Given the description of an element on the screen output the (x, y) to click on. 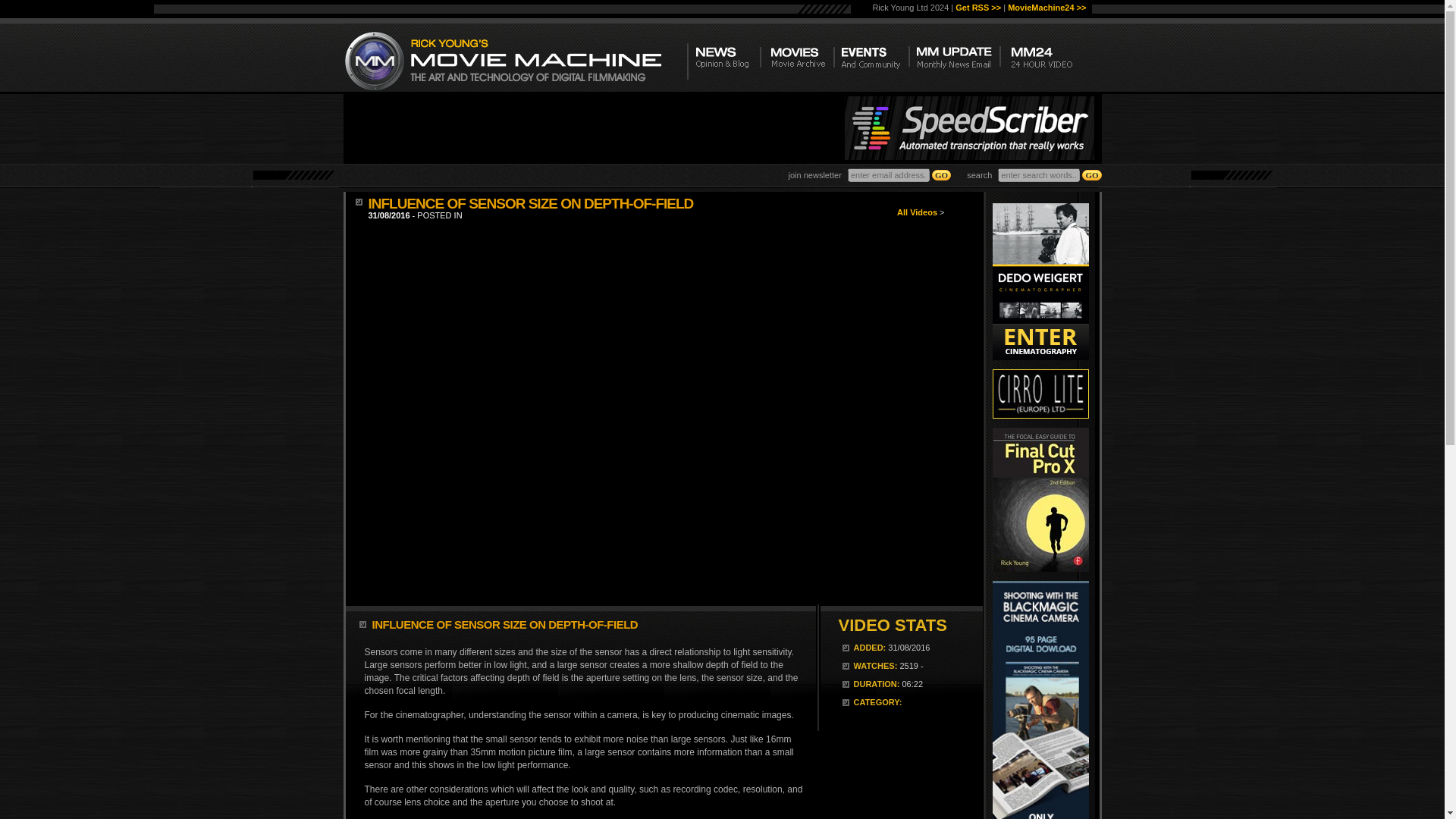
enter email address... (888, 174)
24 Hour Video (1044, 59)
All Videos (916, 212)
Return to Homepage (505, 57)
GO (1090, 174)
enter search words... (1038, 174)
GO (940, 174)
GO (1090, 174)
